Given the description of an element on the screen output the (x, y) to click on. 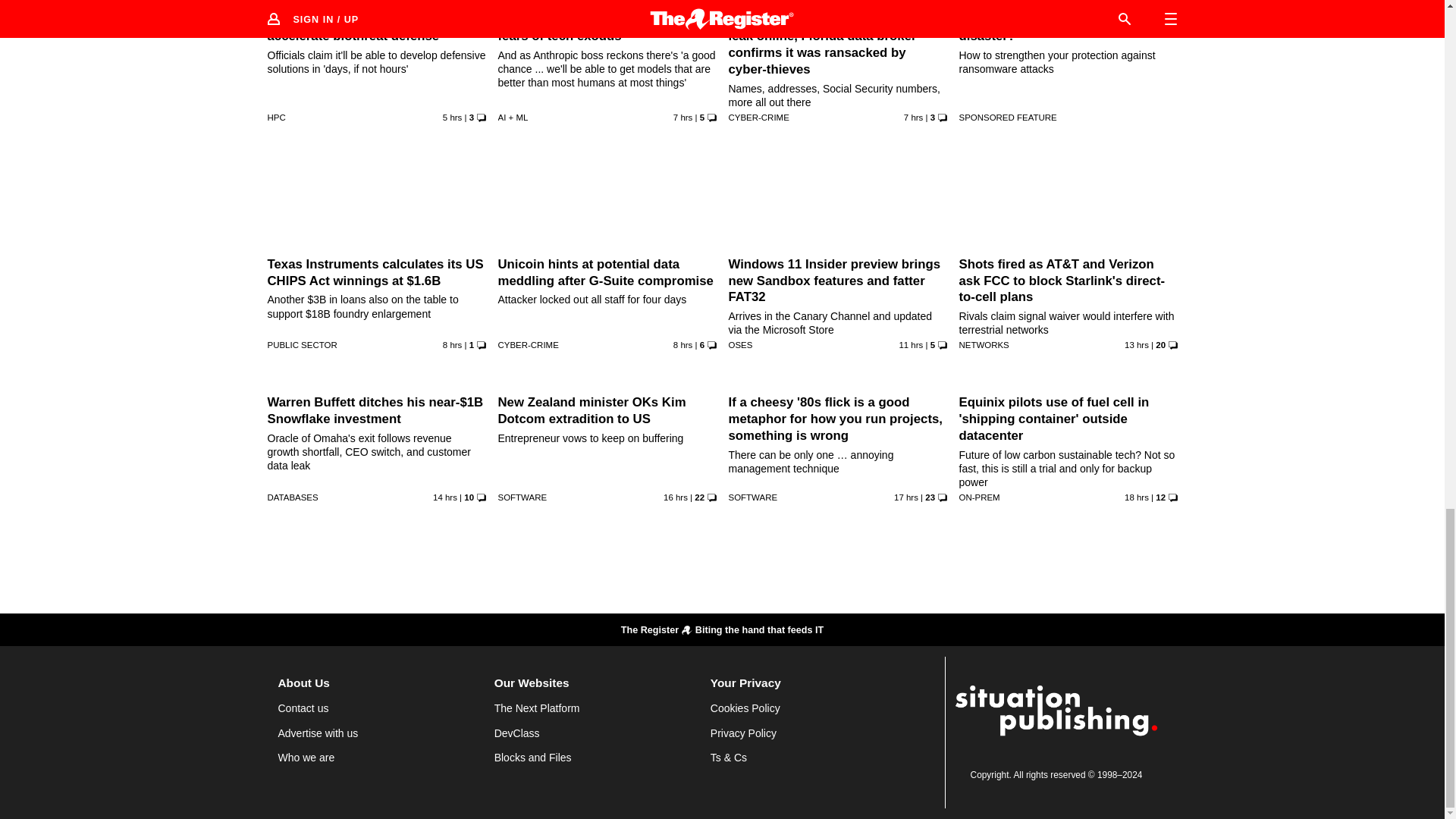
16 Aug 2024 19:43 (682, 344)
16 Aug 2024 20:29 (452, 344)
16 Aug 2024 20:45 (913, 116)
16 Aug 2024 13:45 (444, 497)
16 Aug 2024 12:15 (675, 497)
16 Aug 2024 23:12 (452, 116)
16 Aug 2024 21:19 (682, 116)
16 Aug 2024 15:15 (1136, 344)
16 Aug 2024 16:44 (910, 344)
